Given the description of an element on the screen output the (x, y) to click on. 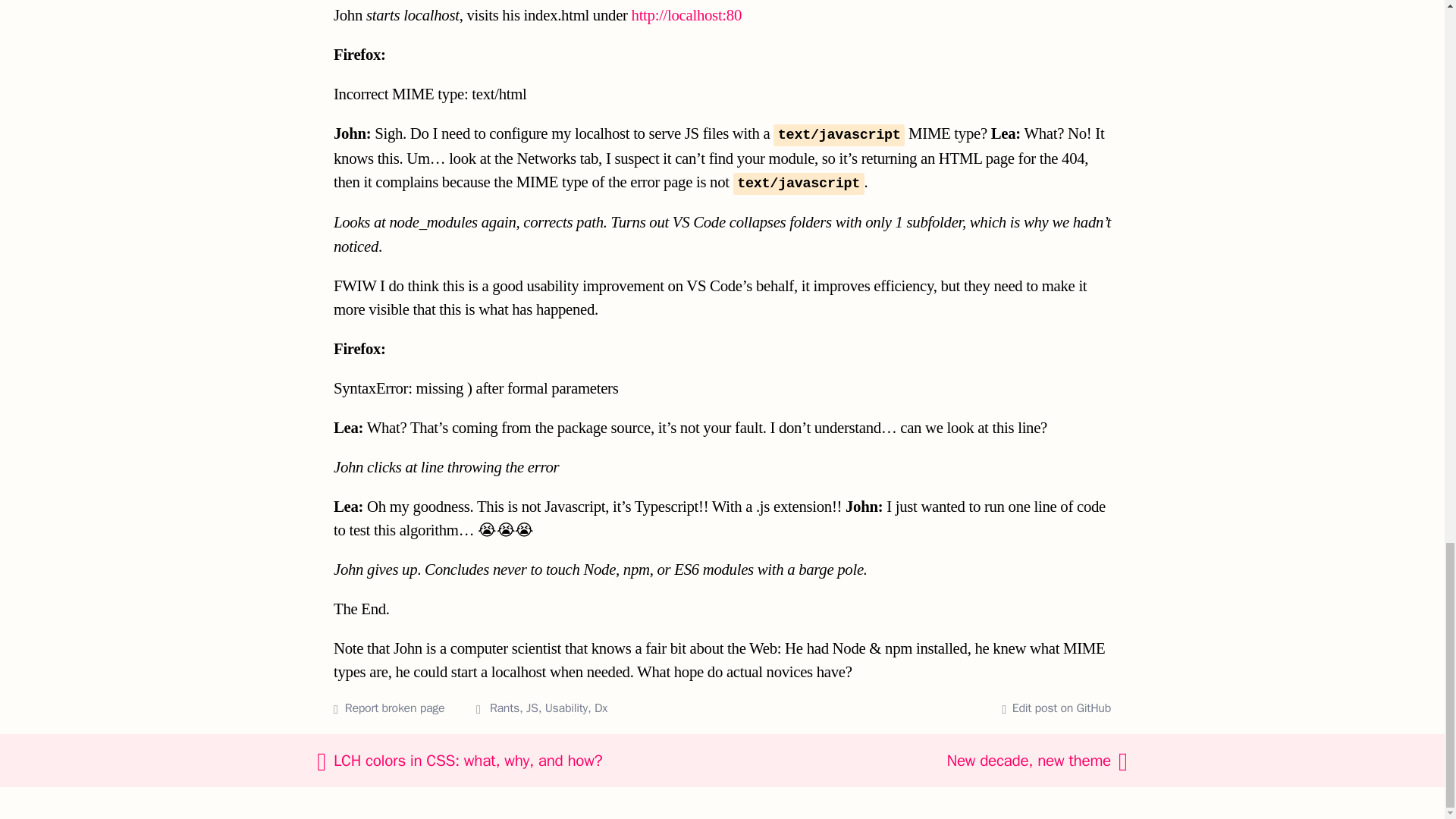
Report broken page (394, 708)
Rants (504, 708)
New decade, new theme (950, 760)
Usability (566, 708)
Edit post on GitHub (1055, 709)
13 posts with this tag (566, 708)
13 posts with this tag (504, 708)
LCH colors in CSS: what, why, and how? (545, 760)
